Given the description of an element on the screen output the (x, y) to click on. 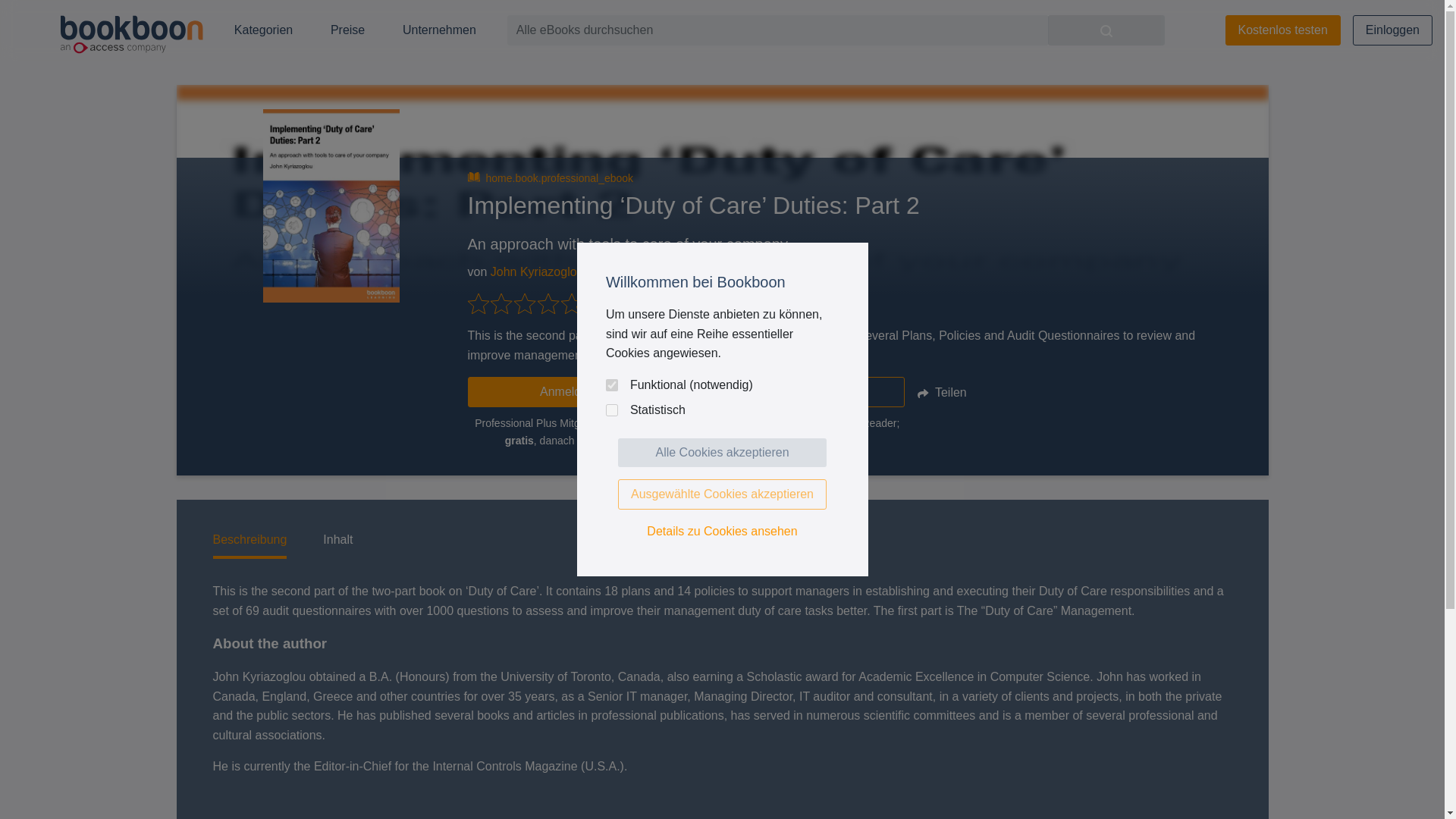
Unternehmen (439, 30)
Alle Cookies akzeptieren (722, 452)
FUNCTIONAL (611, 385)
Kategorien (263, 30)
Preise (347, 30)
Details zu Cookies ansehen (722, 531)
STATISTICAL (611, 410)
